Given the description of an element on the screen output the (x, y) to click on. 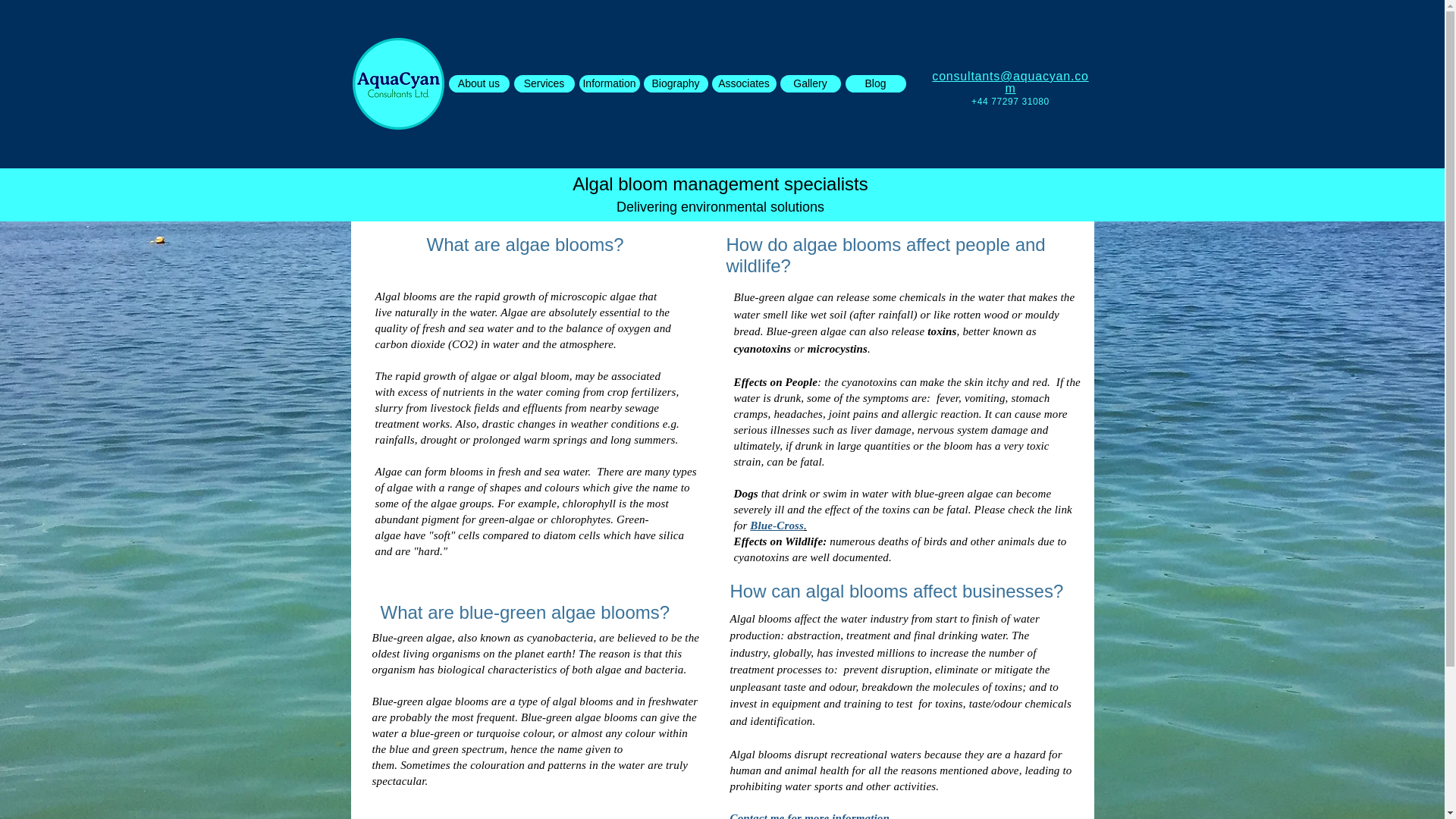
Services (544, 83)
Original on Transparent.png (398, 83)
Blog (874, 83)
Blue-Cross (776, 524)
About us (478, 83)
Biography (675, 83)
. (804, 524)
Contact me for more information  (810, 815)
Information (609, 83)
Gallery (809, 83)
Associates (743, 83)
